Given the description of an element on the screen output the (x, y) to click on. 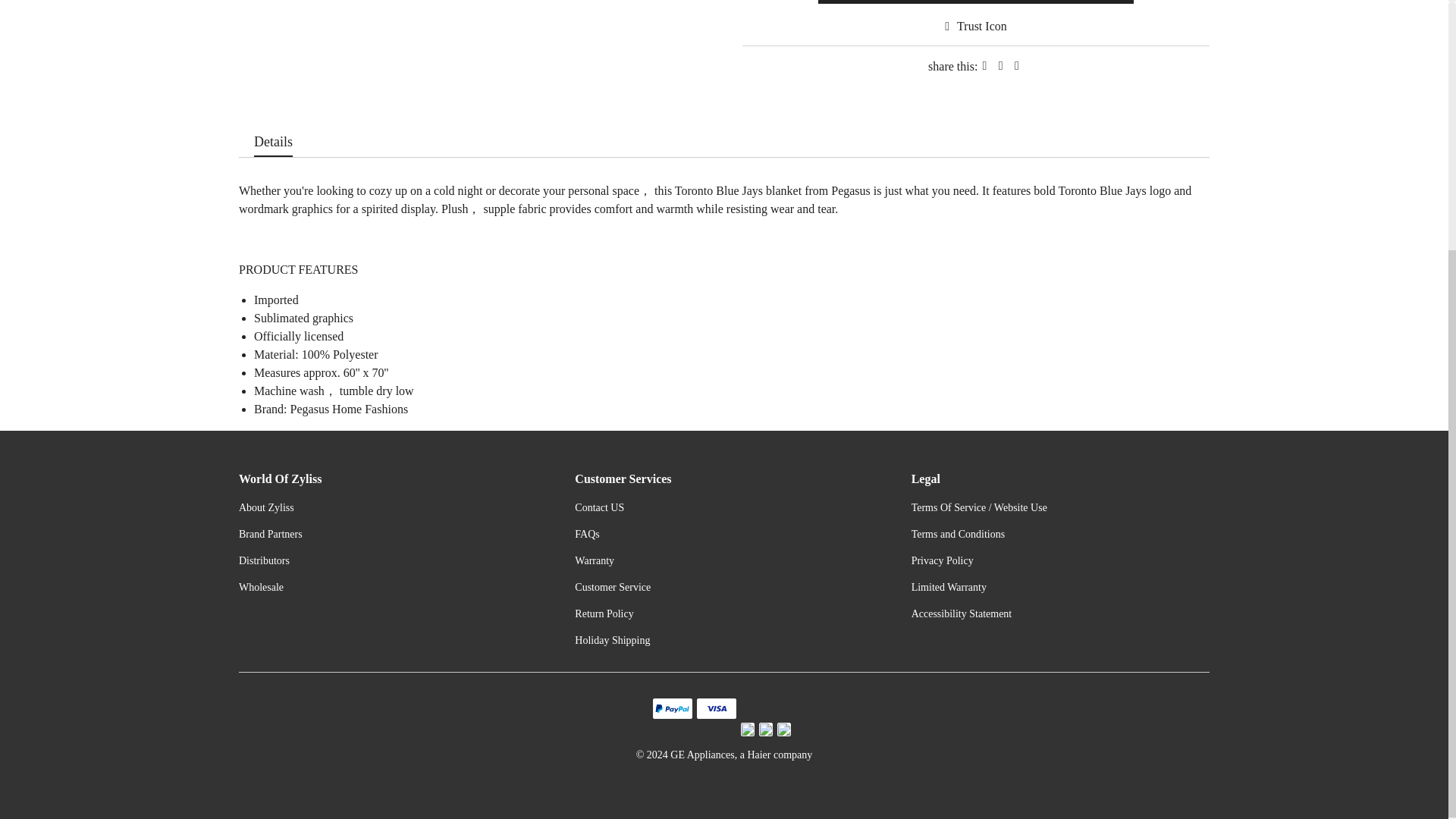
Customer Service (612, 586)
About Zyliss (266, 507)
Brand Partners (270, 533)
Contact US (599, 507)
Buy It Now (976, 2)
Holiday Shipping (612, 640)
Wholesale (260, 586)
Return Policy (604, 613)
FAQs (586, 533)
Warranty (594, 560)
Distributors (263, 560)
